Given the description of an element on the screen output the (x, y) to click on. 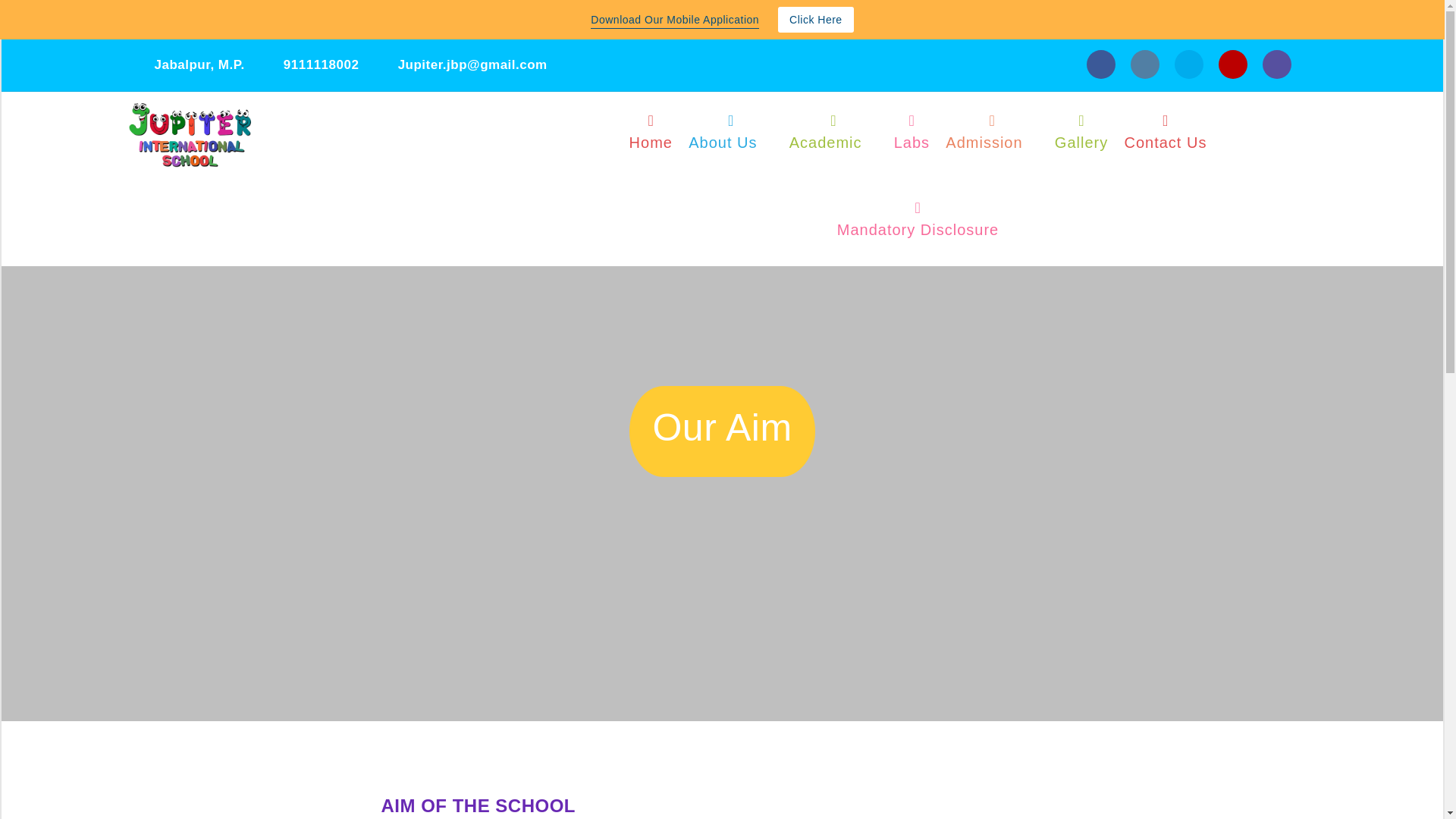
Academic (833, 135)
facebook (1100, 63)
Admission (991, 135)
twitter (1187, 63)
Contact Us (1164, 135)
Jupiter International School (357, 156)
Mandatory Disclosure (917, 222)
instagram (1143, 63)
About Us (730, 135)
youtube (1231, 63)
Click Here (815, 19)
9111118002 (312, 64)
